Given the description of an element on the screen output the (x, y) to click on. 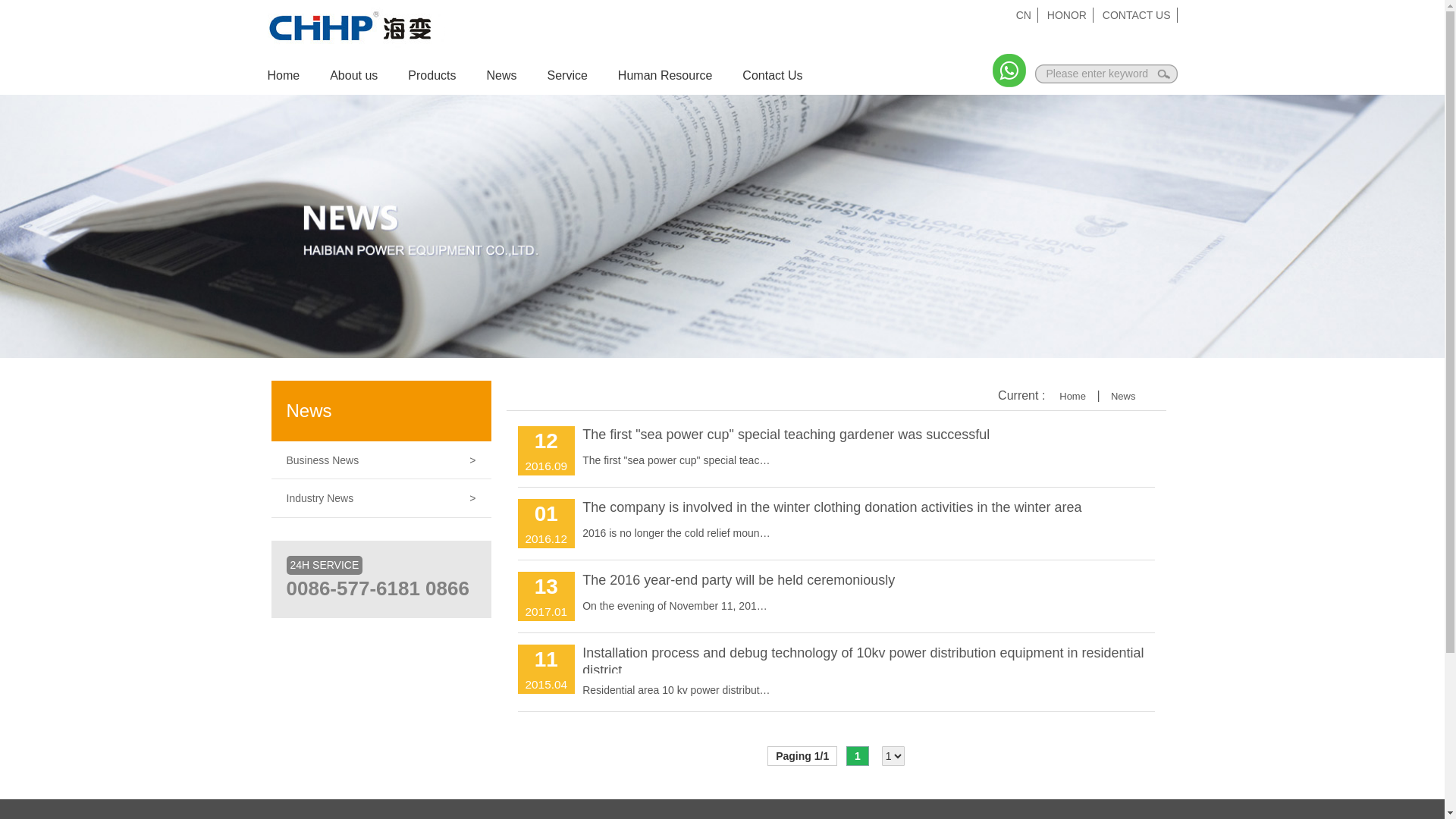
HONOR Element type: text (1067, 14)
Service Element type: text (582, 75)
CN Element type: text (1024, 14)
Home Element type: text (1072, 395)
Home Element type: text (297, 75)
Contact Us Element type: text (787, 75)
News Element type: text (516, 75)
CONTACT US Element type: text (1136, 14)
News Element type: text (1123, 395)
The 2016 year-end party will be held ceremoniously Element type: text (738, 579)
Business News
> Element type: text (381, 460)
About us Element type: text (368, 75)
Products Element type: text (446, 75)
Human Resource Element type: text (680, 75)
1 Element type: text (857, 755)
Industry News
> Element type: text (381, 498)
